Given the description of an element on the screen output the (x, y) to click on. 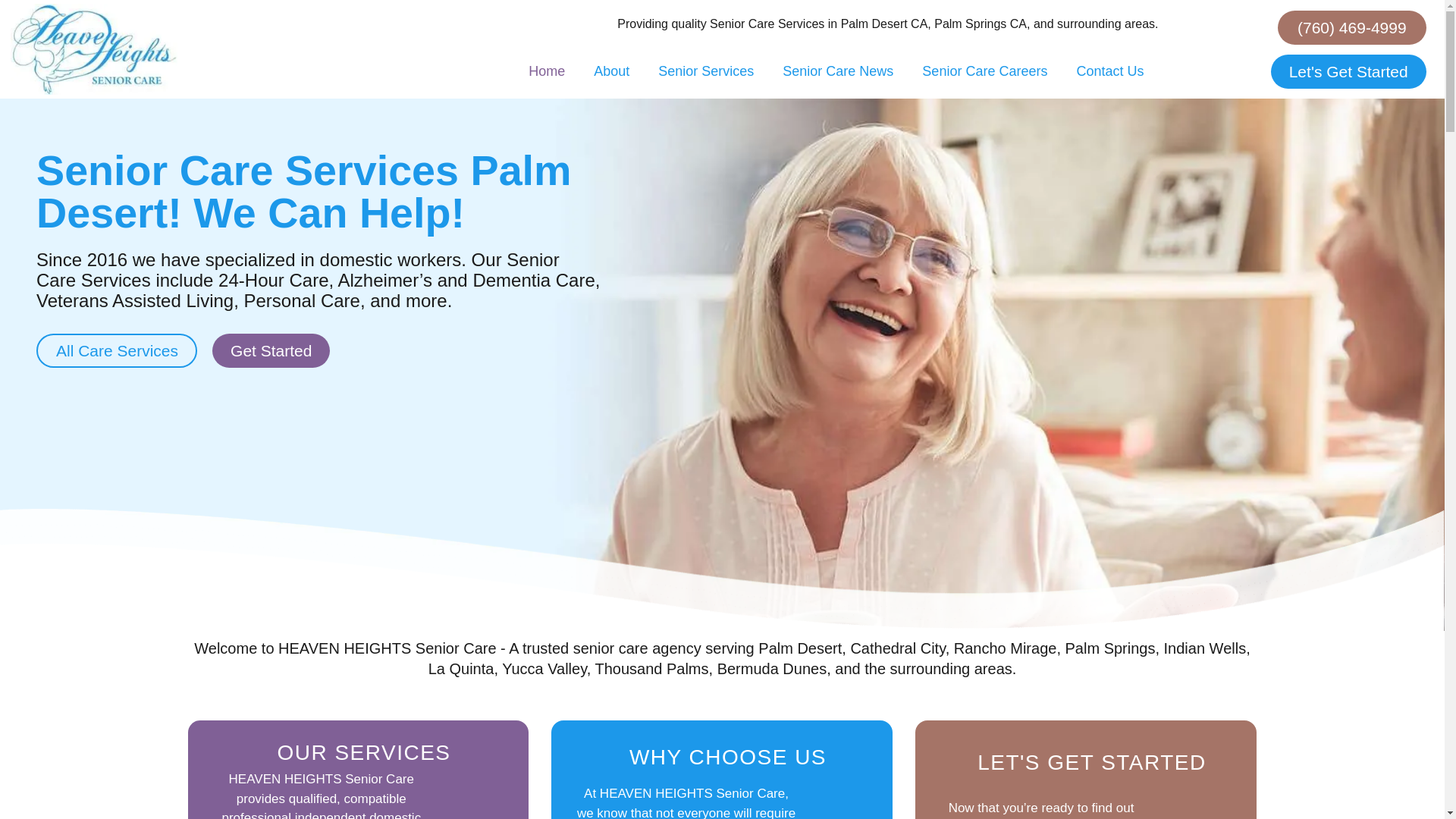
Senior Care News (837, 70)
Home (546, 70)
Get Started (271, 350)
Let's Get Started (1348, 71)
About (611, 70)
All Care Services (116, 350)
Senior Services (705, 70)
Contact Us (1109, 70)
Senior Care Careers (984, 70)
